Given the description of an element on the screen output the (x, y) to click on. 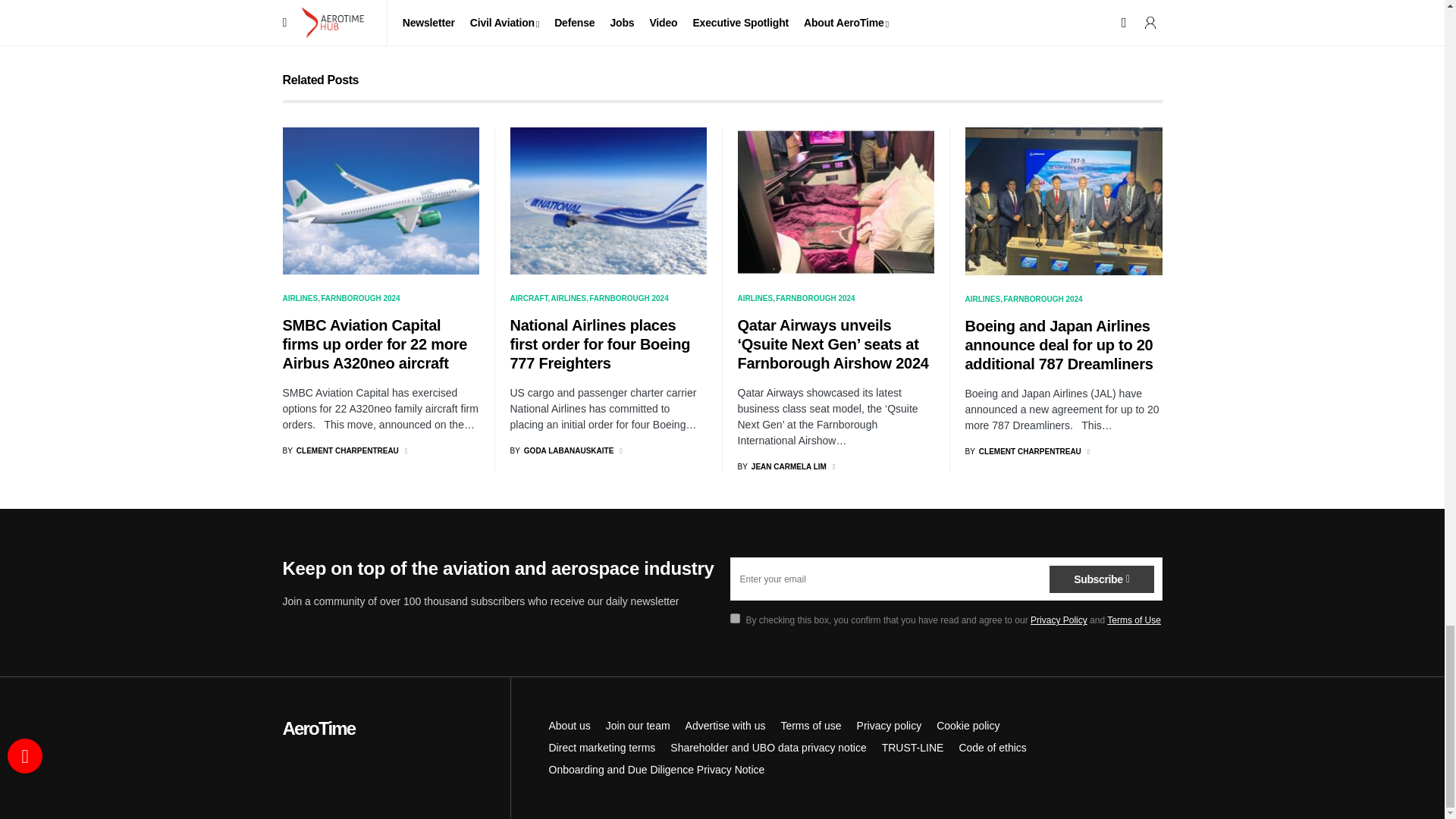
View all posts by Jean Carmela Lim (780, 466)
View all posts by Clement Charpentreau (339, 450)
View all posts by Clement Charpentreau (1021, 451)
View all posts by Goda Labanauskaite (560, 450)
on (734, 618)
